Given the description of an element on the screen output the (x, y) to click on. 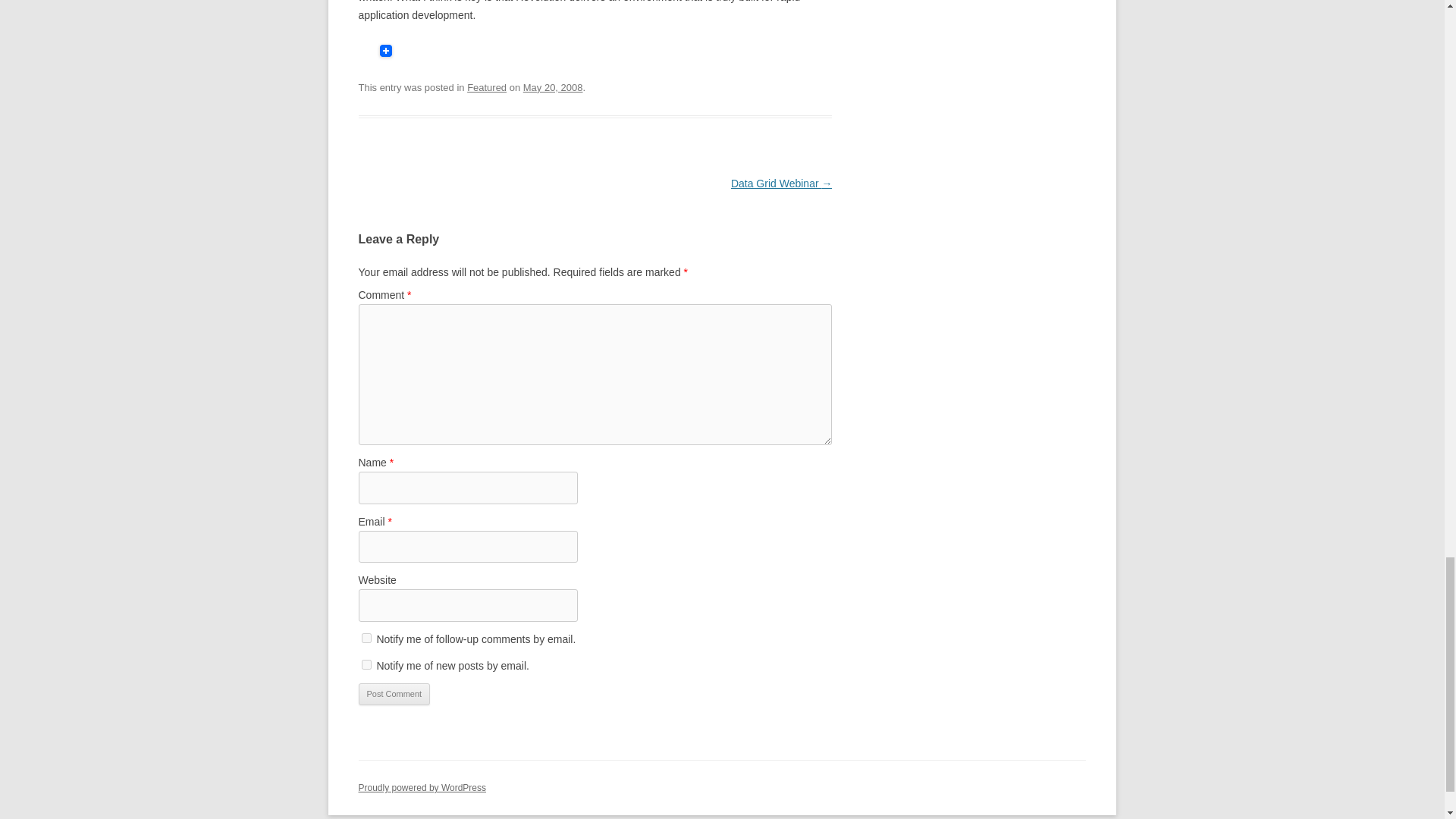
subscribe (366, 637)
Post Comment (393, 694)
8:25 am (552, 87)
Semantic Personal Publishing Platform (422, 787)
May 20, 2008 (552, 87)
Post Comment (393, 694)
subscribe (366, 664)
Featured (486, 87)
